Given the description of an element on the screen output the (x, y) to click on. 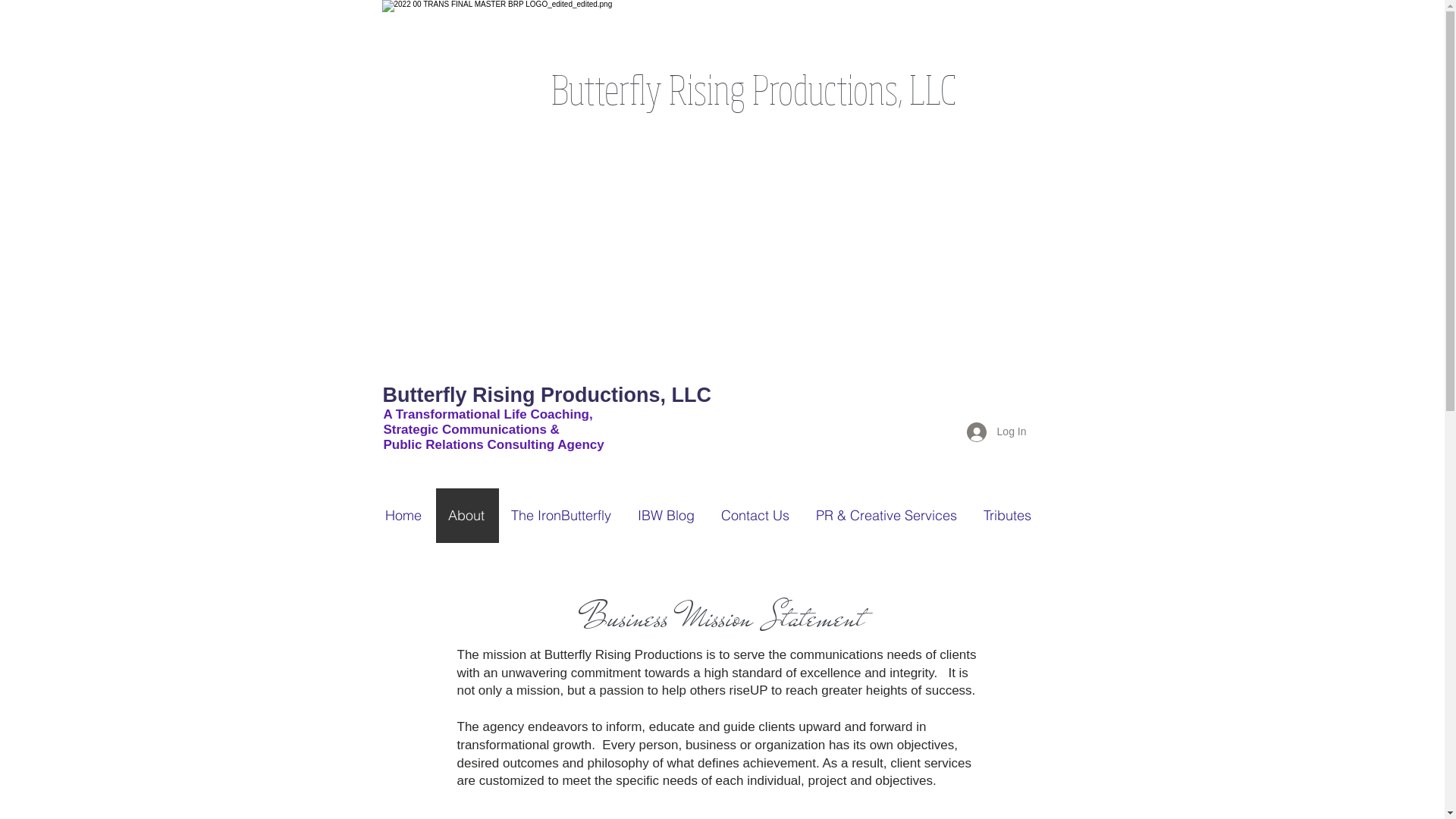
Log In Element type: text (996, 431)
About Element type: text (466, 515)
IBW Blog Element type: text (666, 515)
Home Element type: text (404, 515)
PR & Creative Services Element type: text (887, 515)
Tributes Element type: text (1007, 515)
The IronButterfly Element type: text (561, 515)
Contact Us Element type: text (755, 515)
